Given the description of an element on the screen output the (x, y) to click on. 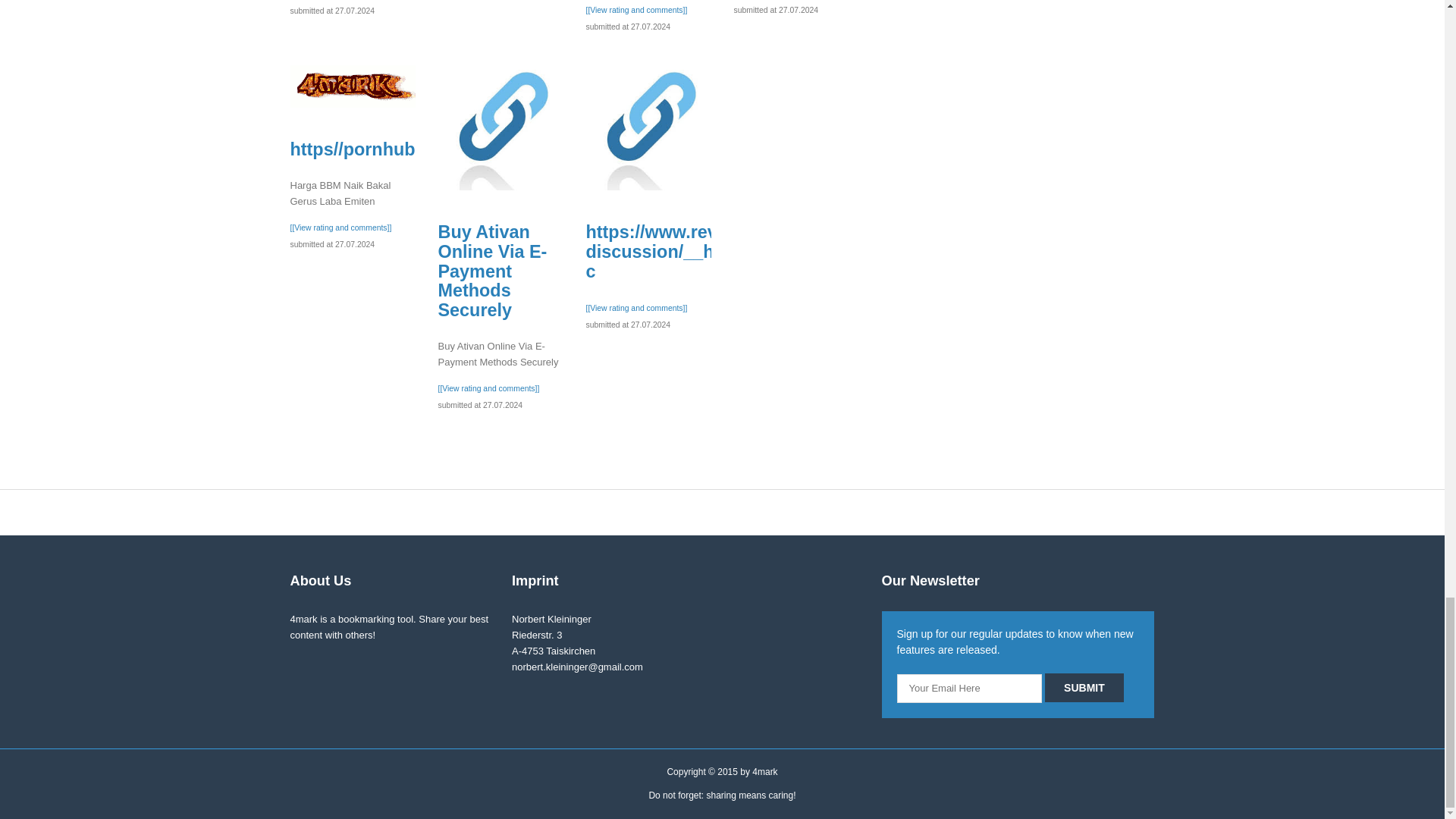
Email (969, 688)
Buy Ativan Online Via E- Payment Methods Securely (500, 127)
Submit (1084, 687)
